Given the description of an element on the screen output the (x, y) to click on. 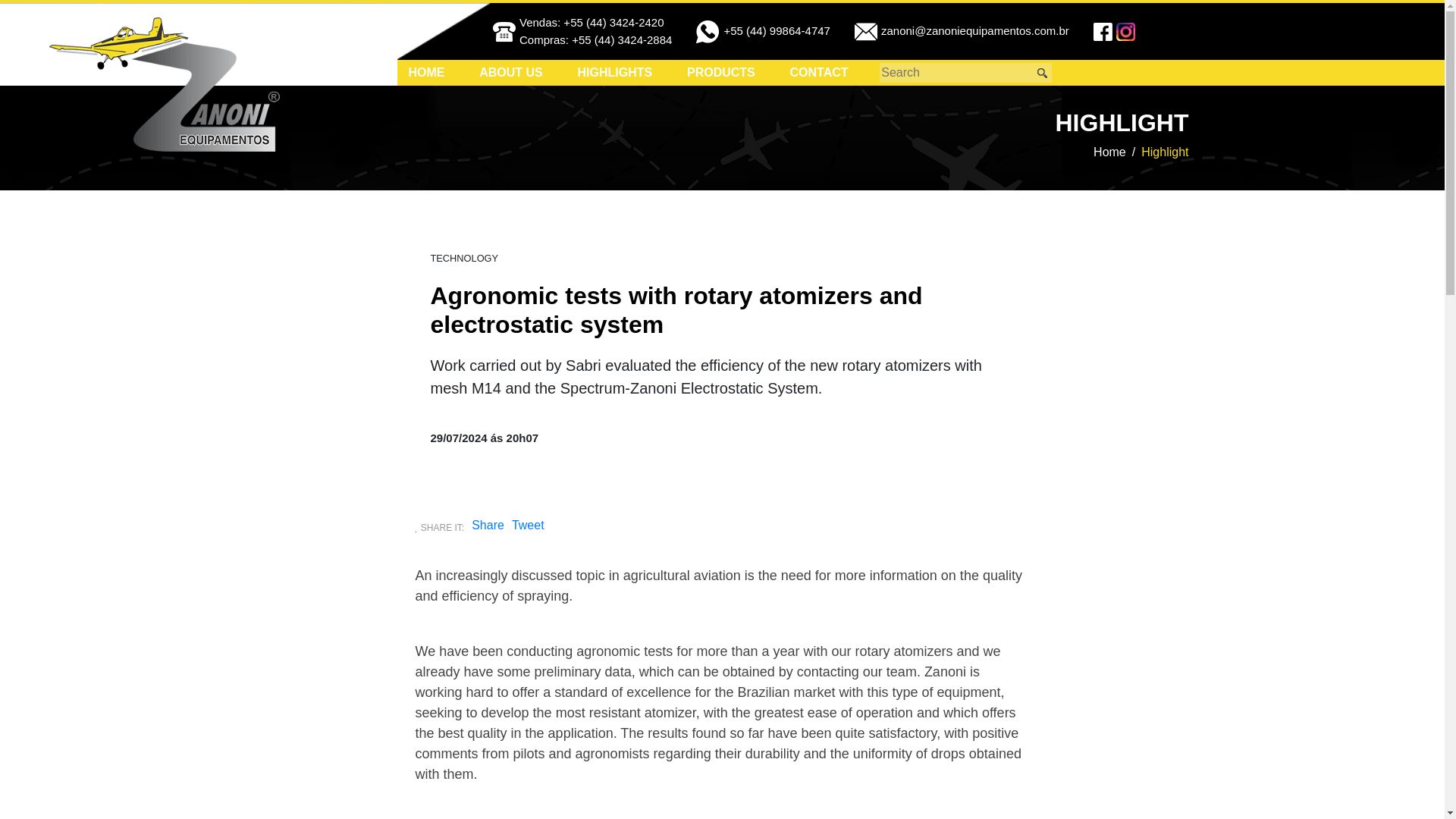
Share (487, 524)
Facebook Zanoni Equipamentos (1104, 31)
Home (1109, 152)
HIGHLIGHTS (615, 72)
Zanoni Equipamentos (164, 84)
Instagram Zanoni Equipamentos (1127, 31)
PRODUCTS (721, 72)
Tweet (528, 527)
English (1196, 31)
CONTACT (819, 72)
HOME (425, 72)
ABOUT US (511, 72)
